Given the description of an element on the screen output the (x, y) to click on. 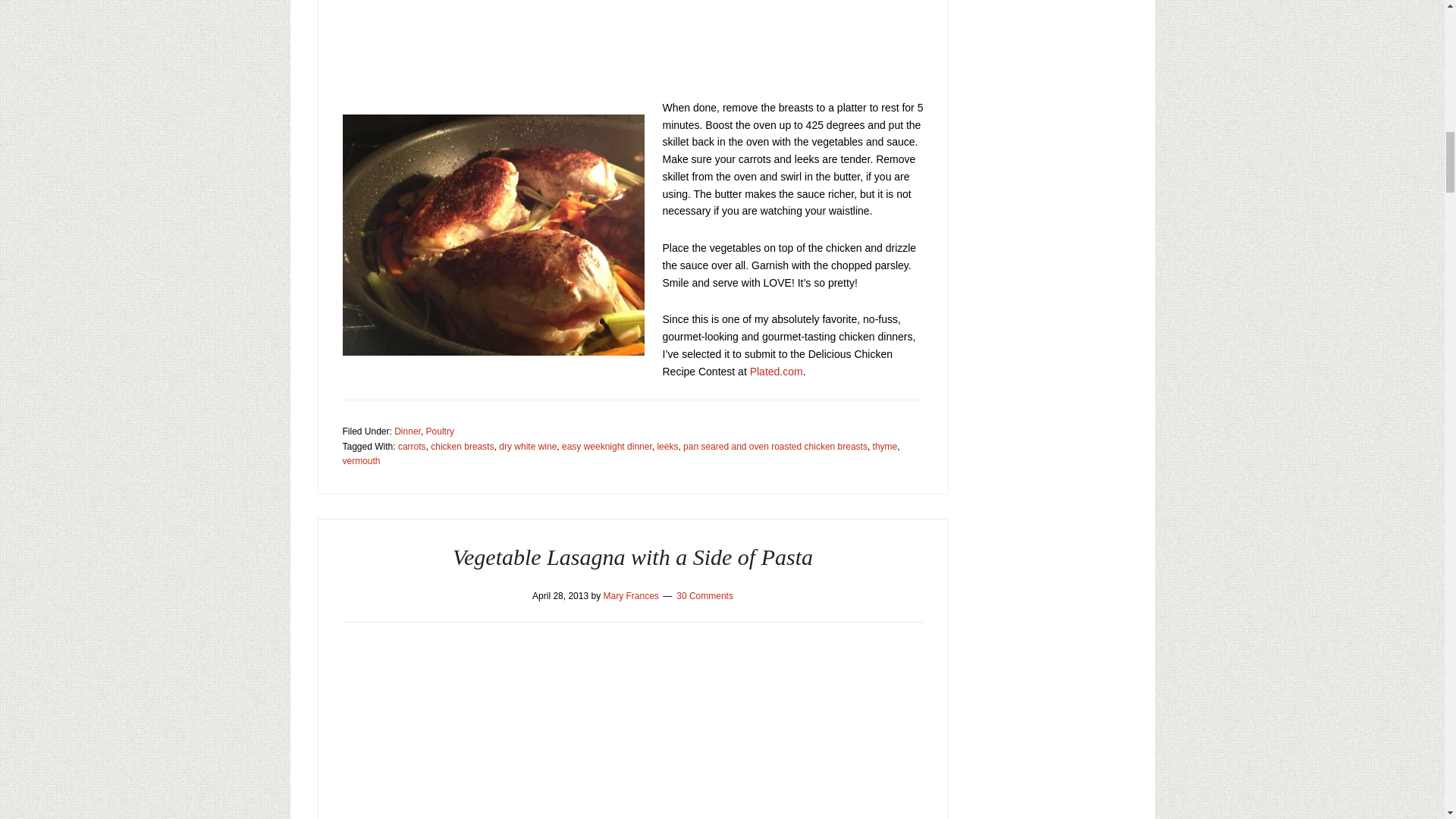
vermouth (361, 460)
pan seared and oven roasted chicken breasts (774, 446)
Dinner (407, 430)
Plated.com (776, 371)
30 Comments (705, 595)
Vegetable Lasagna with a Side of Pasta (632, 556)
easy weeknight dinner (607, 446)
chicken breasts (461, 446)
leeks (667, 446)
Poultry (440, 430)
